Given the description of an element on the screen output the (x, y) to click on. 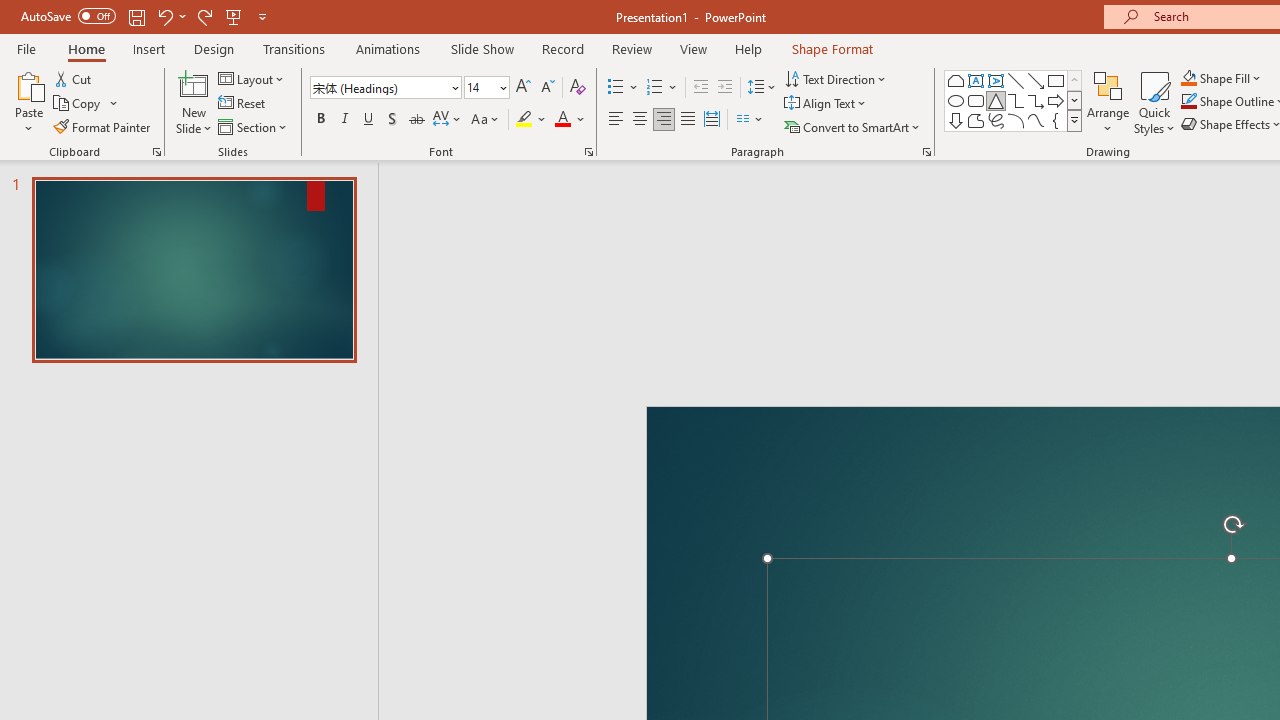
Rectangle: Top Corners Snipped (955, 80)
